Given the description of an element on the screen output the (x, y) to click on. 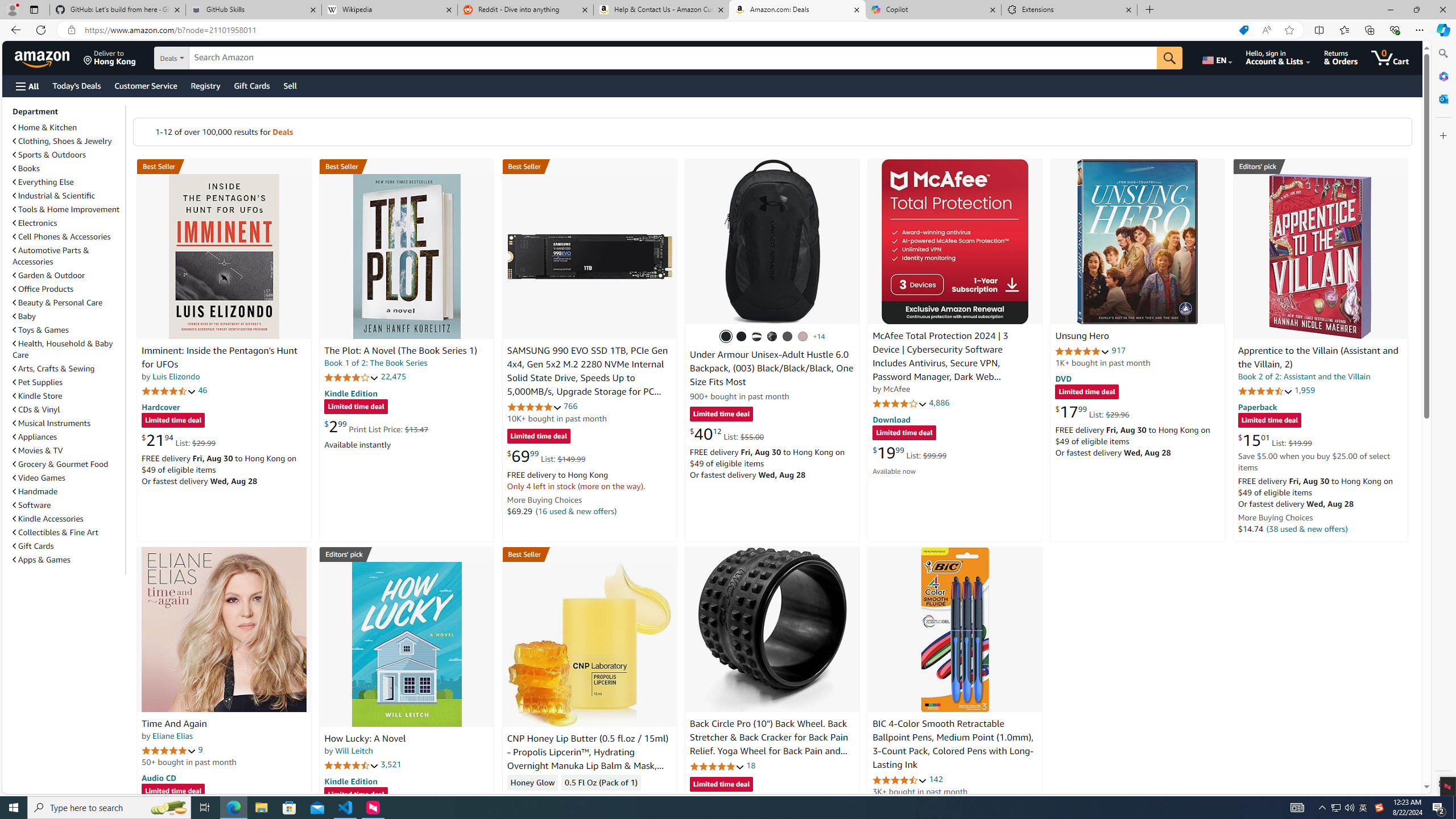
$15.01 List: $19.99 (1274, 439)
Customer Service (145, 85)
Musical Instruments (51, 422)
Cell Phones & Accessories (61, 236)
4.1 out of 5 stars (899, 403)
Paperback (1256, 406)
Side bar (1443, 418)
Limited time deal (721, 784)
